Given the description of an element on the screen output the (x, y) to click on. 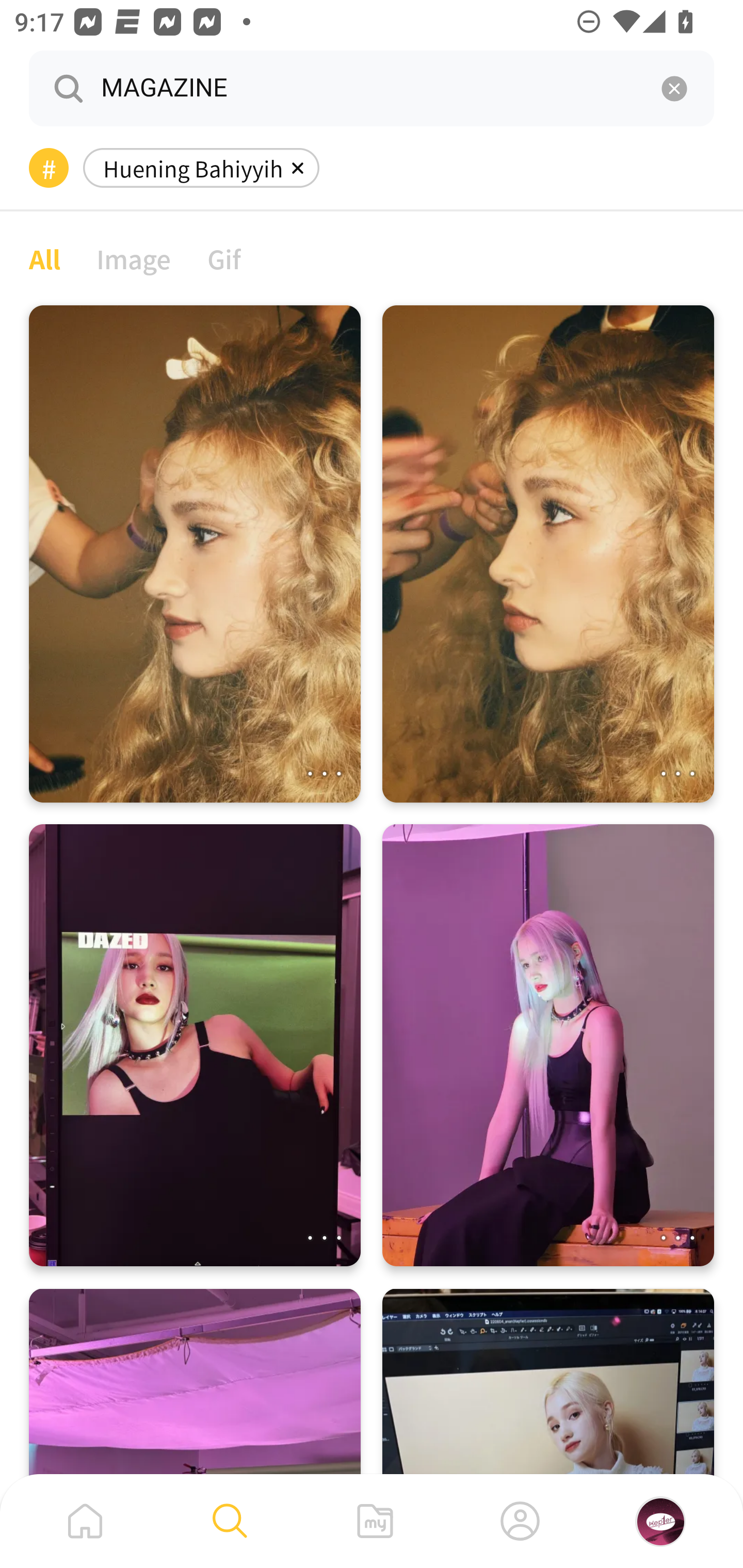
All (44, 257)
Image (133, 257)
Gif (223, 257)
